Given the description of an element on the screen output the (x, y) to click on. 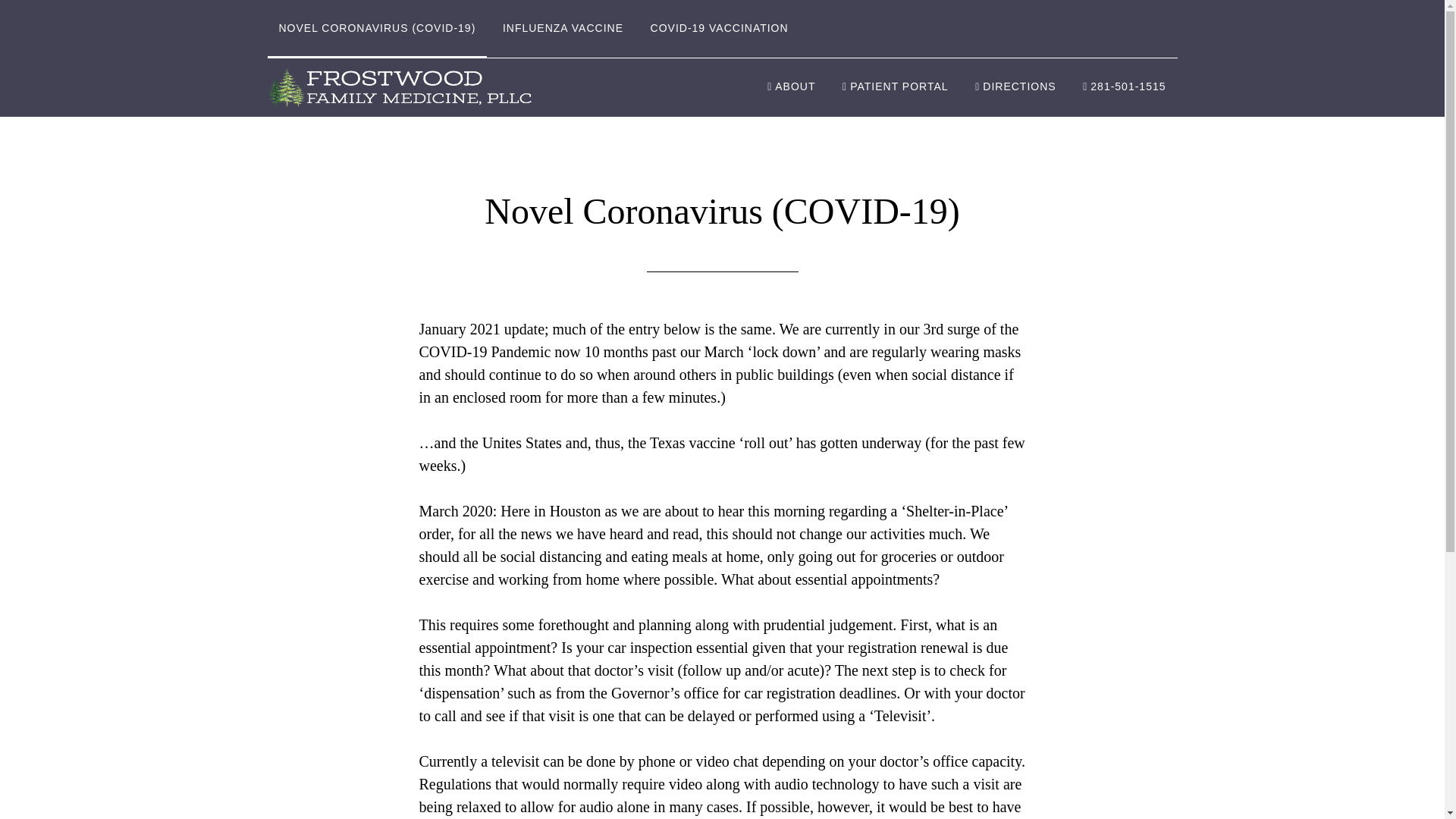
COVID-19 VACCINATION (719, 28)
281-501-1515 (1123, 87)
INFLUENZA VACCINE (563, 28)
ABOUT (791, 87)
PATIENT PORTAL (895, 87)
FROSTWOOD FAMILY MEDICINE (403, 87)
DIRECTIONS (1015, 87)
